Given the description of an element on the screen output the (x, y) to click on. 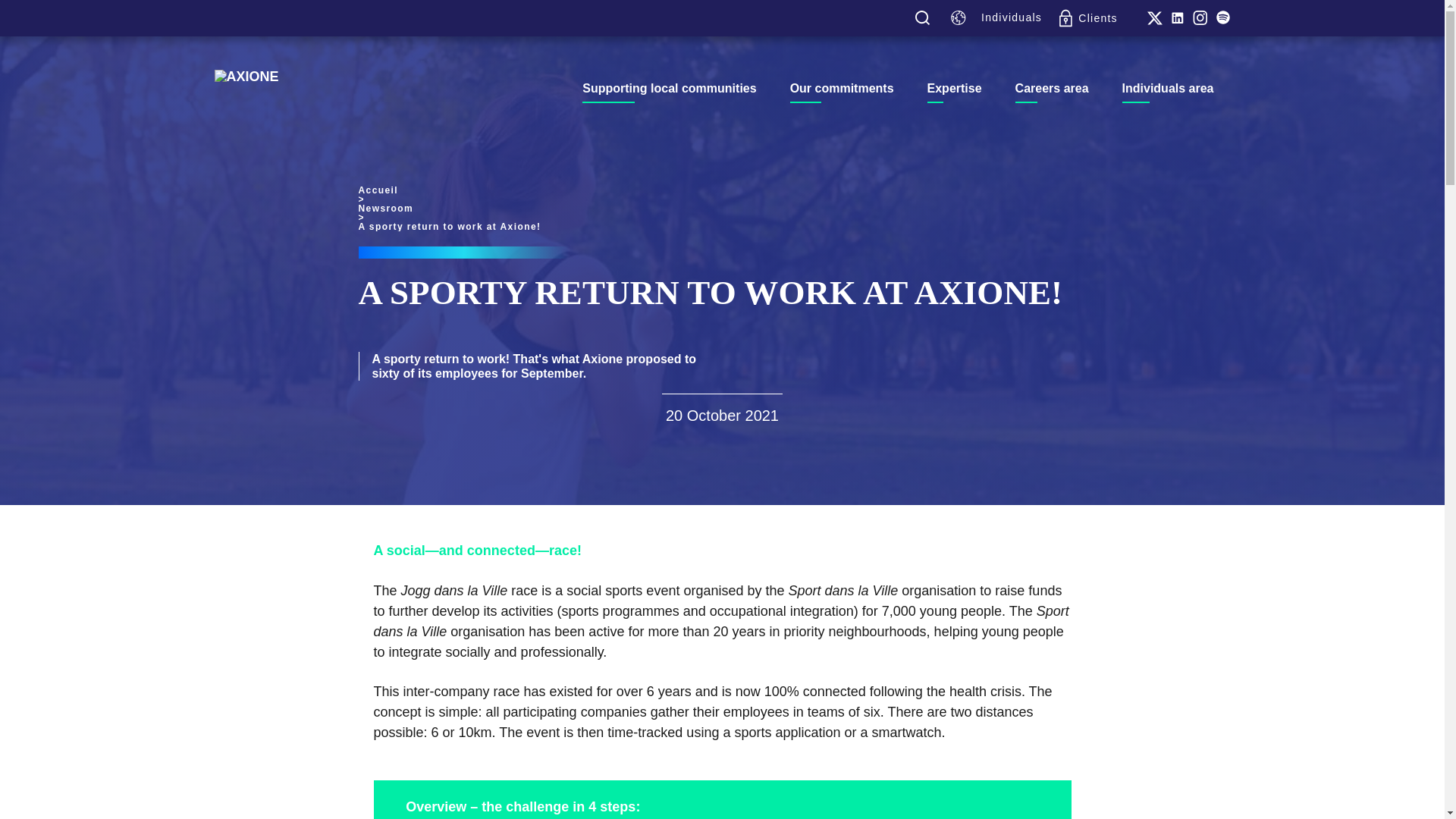
Clients (1088, 18)
Langues (961, 17)
Individuals area (1168, 88)
Careers area (1051, 88)
Individuals (1011, 18)
Supporting local communities (668, 88)
Our commitments (841, 88)
Expertise (954, 88)
